Given the description of an element on the screen output the (x, y) to click on. 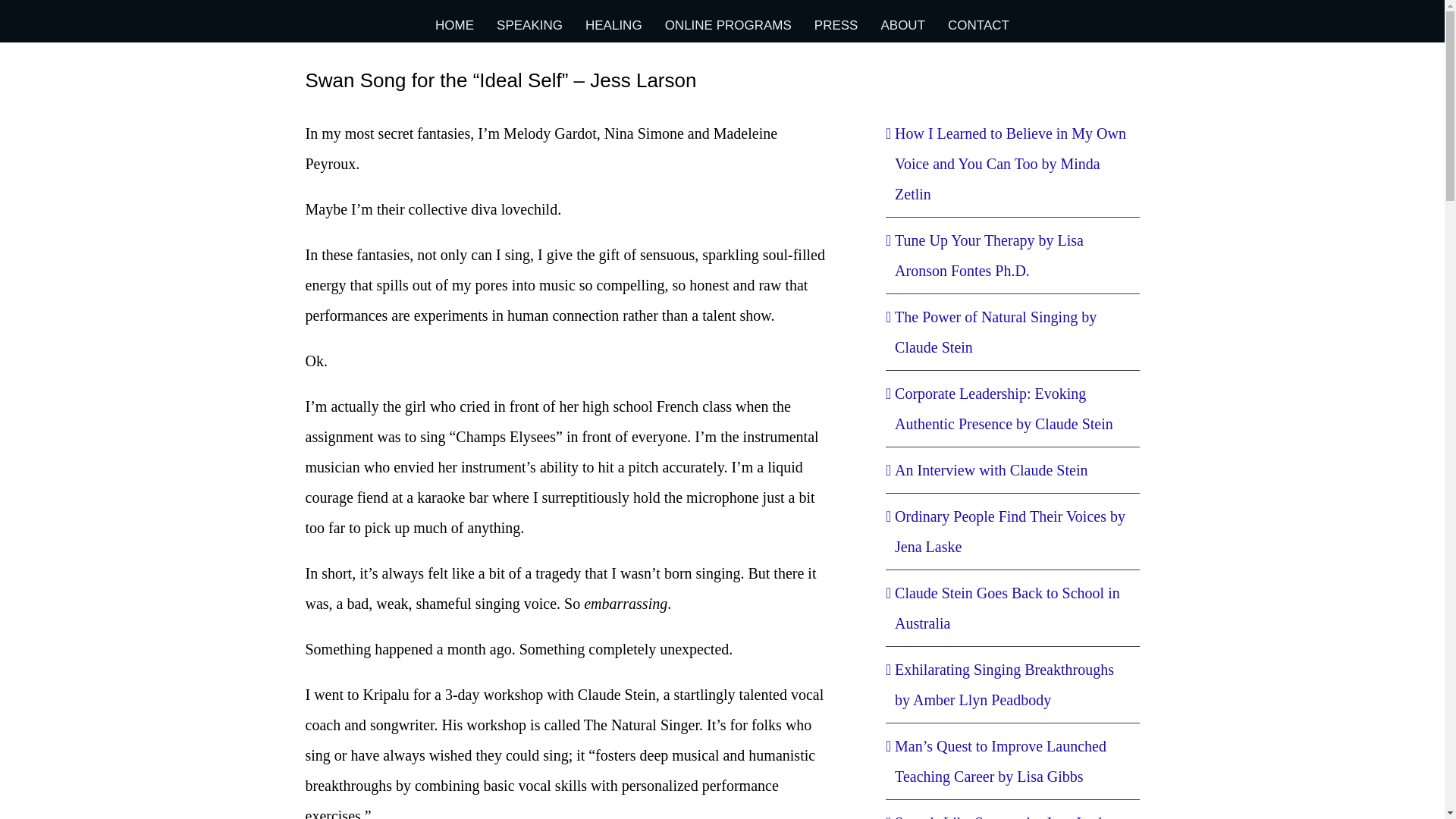
Claude Stein Goes Back to School in Australia (1007, 607)
CONTACT (978, 25)
ABOUT (902, 25)
Ordinary People Find Their Voices by Jena Laske (1010, 531)
Sounds Like Success by Jena Laske (1003, 816)
HOME (454, 25)
The Power of Natural Singing by Claude Stein (995, 331)
Home (914, 80)
ONLINE PROGRAMS (728, 25)
Tune Up Your Therapy by Lisa Aronson Fontes Ph.D. (989, 255)
SPEAKING (529, 25)
Stories and Articles (962, 80)
HEALING (613, 25)
